Given the description of an element on the screen output the (x, y) to click on. 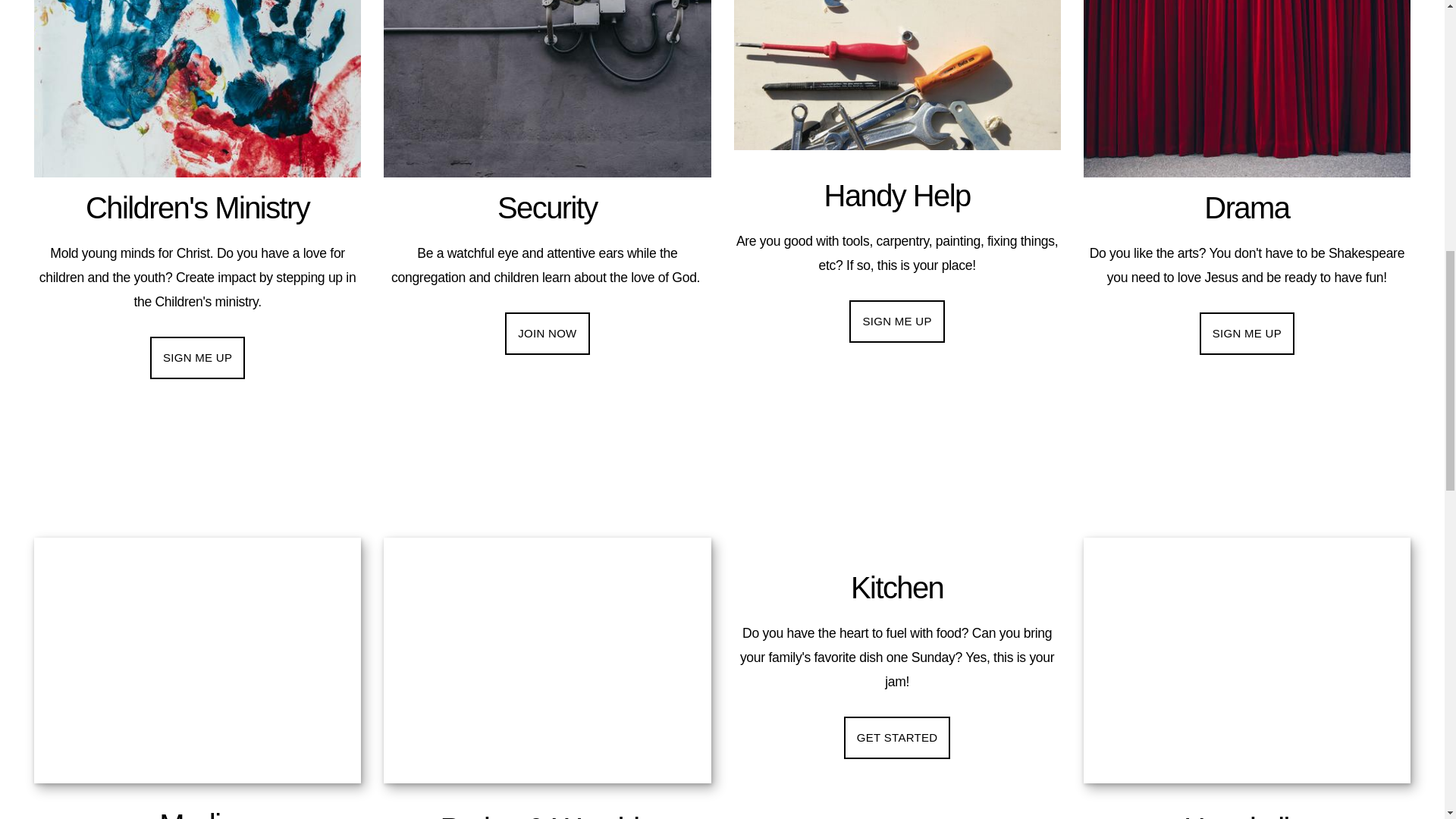
GET STARTED (897, 737)
SIGN ME UP (1246, 333)
SIGN ME UP (196, 357)
JOIN NOW (547, 333)
SIGN ME UP (895, 321)
